Given the description of an element on the screen output the (x, y) to click on. 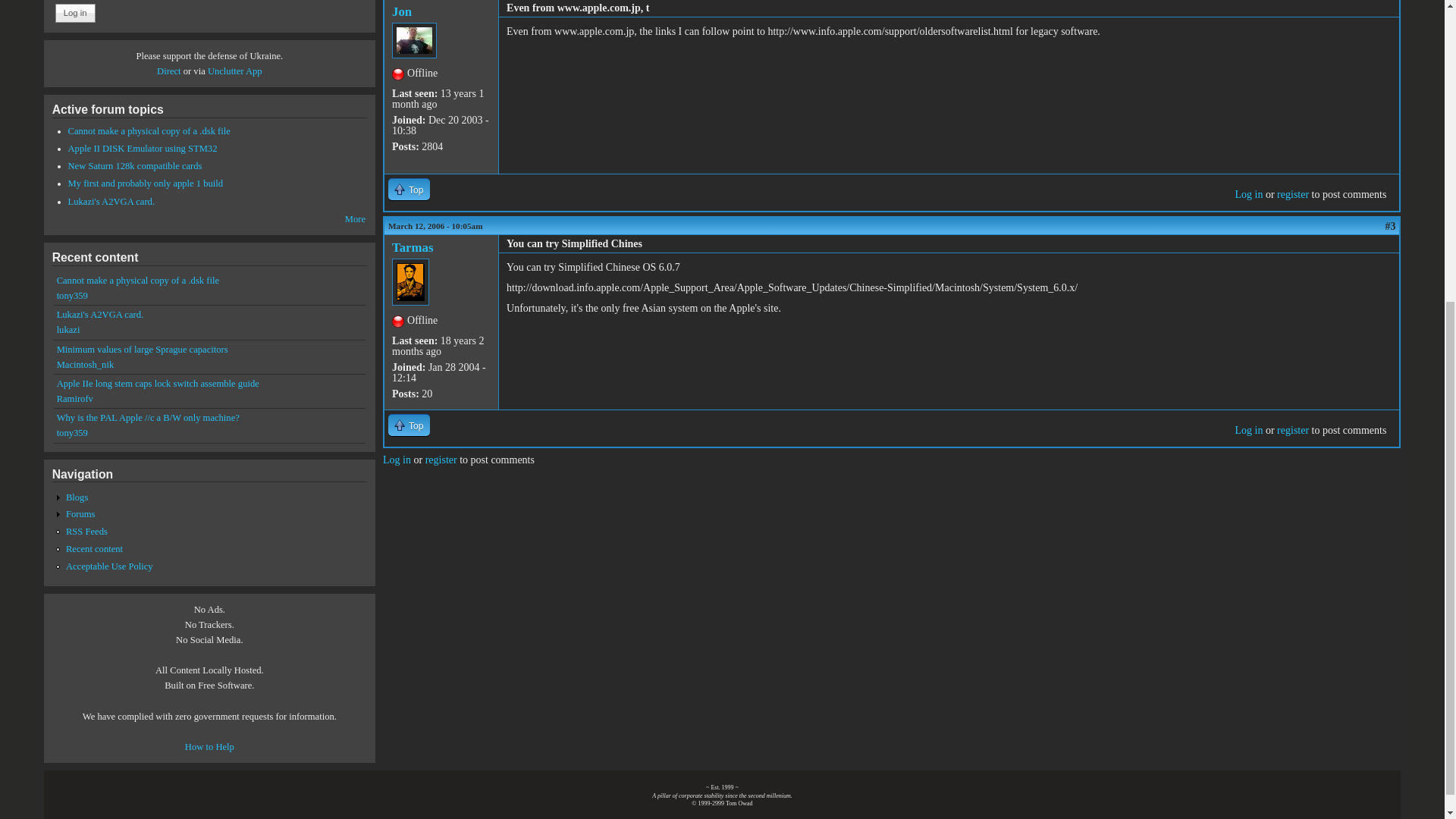
Jump to top of page (408, 188)
Tarmas's picture (410, 281)
Log in (75, 13)
register (1292, 194)
register (441, 460)
Tarmas (411, 247)
2 comments (149, 131)
112 comments (135, 165)
View user profile. (411, 247)
register (1292, 430)
View user profile. (401, 11)
Log in (1248, 430)
Log in (1248, 194)
Top (408, 424)
159 comments (142, 148)
